Given the description of an element on the screen output the (x, y) to click on. 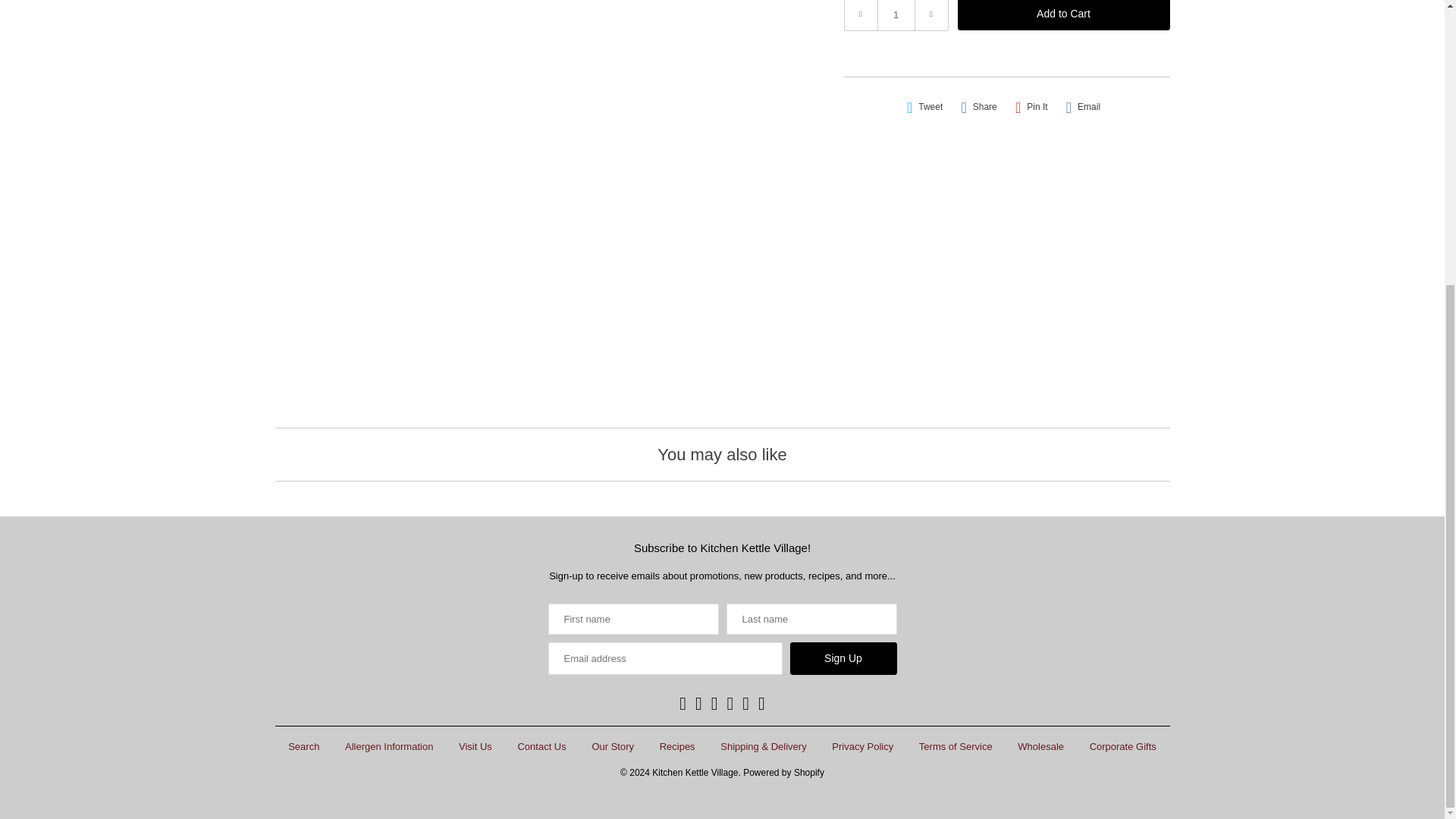
Share this on Pinterest (1031, 107)
Share this on Twitter (924, 107)
Share this on Facebook (978, 107)
Email this to a friend (1083, 107)
1 (895, 15)
Sign Up (843, 658)
